Given the description of an element on the screen output the (x, y) to click on. 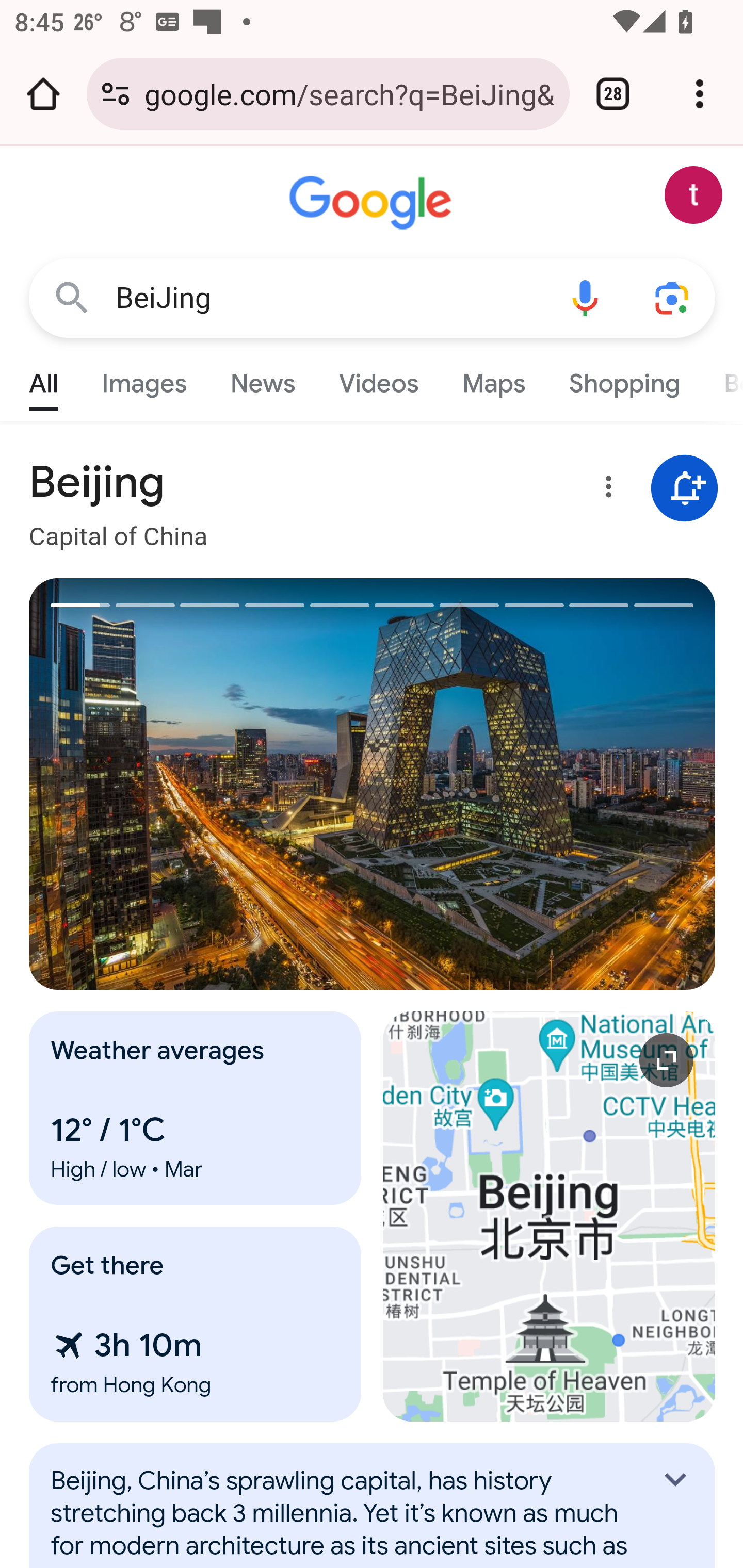
Open the home page (43, 93)
Connection is secure (115, 93)
Switch or close tabs (612, 93)
Customize and control Google Chrome (699, 93)
Google (372, 203)
Google Search (71, 296)
Search using your camera or photos (672, 296)
BeiJing (328, 297)
Images (144, 378)
News (262, 378)
Videos (378, 378)
Maps (493, 378)
Shopping (623, 378)
Get notifications about Beijing (684, 489)
More options (605, 489)
Previous image (200, 783)
Next image (544, 783)
Weather averages 12° / 1°C High / low • Mar (195, 1108)
Expand map (549, 1216)
